Given the description of an element on the screen output the (x, y) to click on. 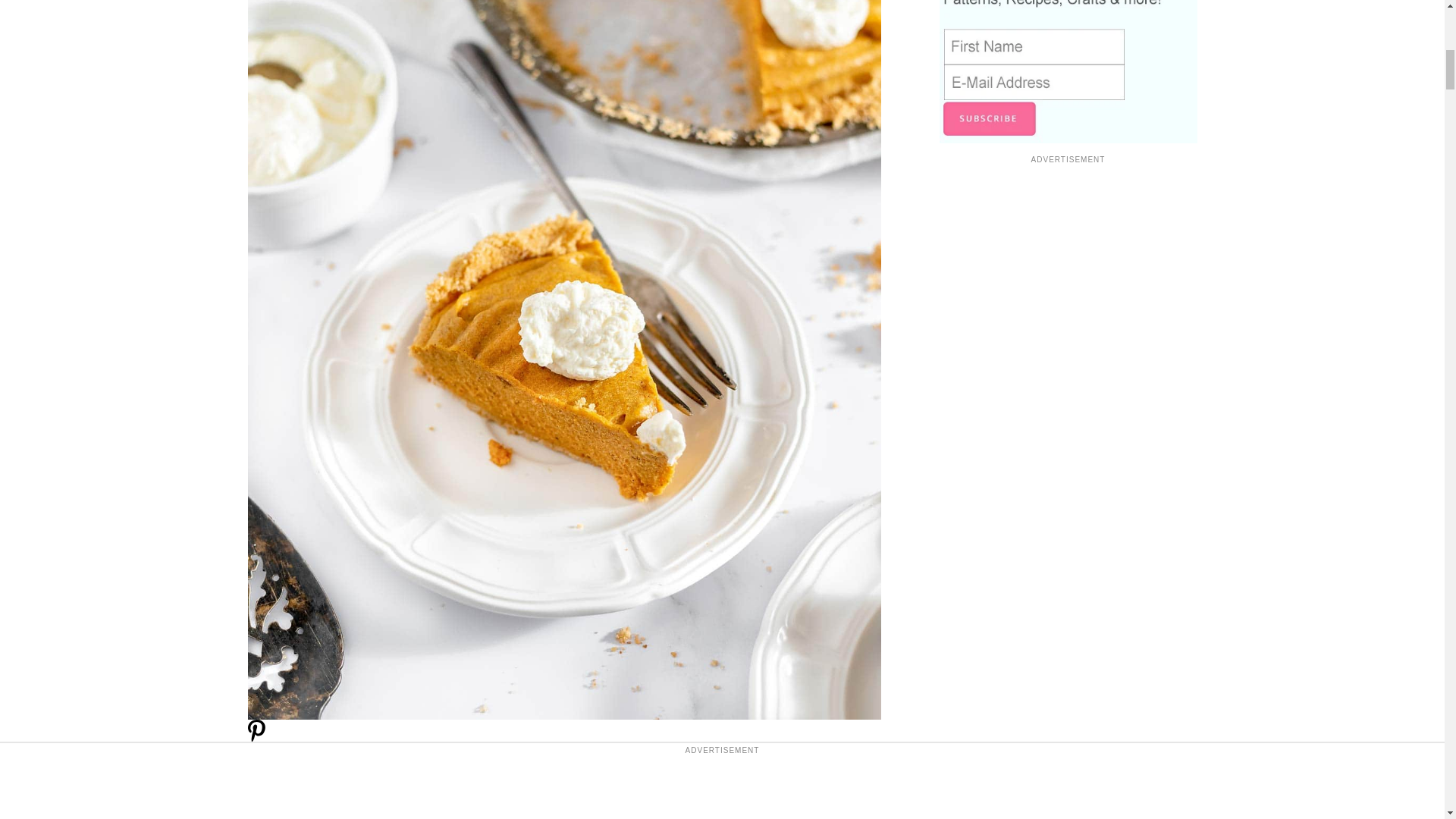
Pin It (255, 737)
